Given the description of an element on the screen output the (x, y) to click on. 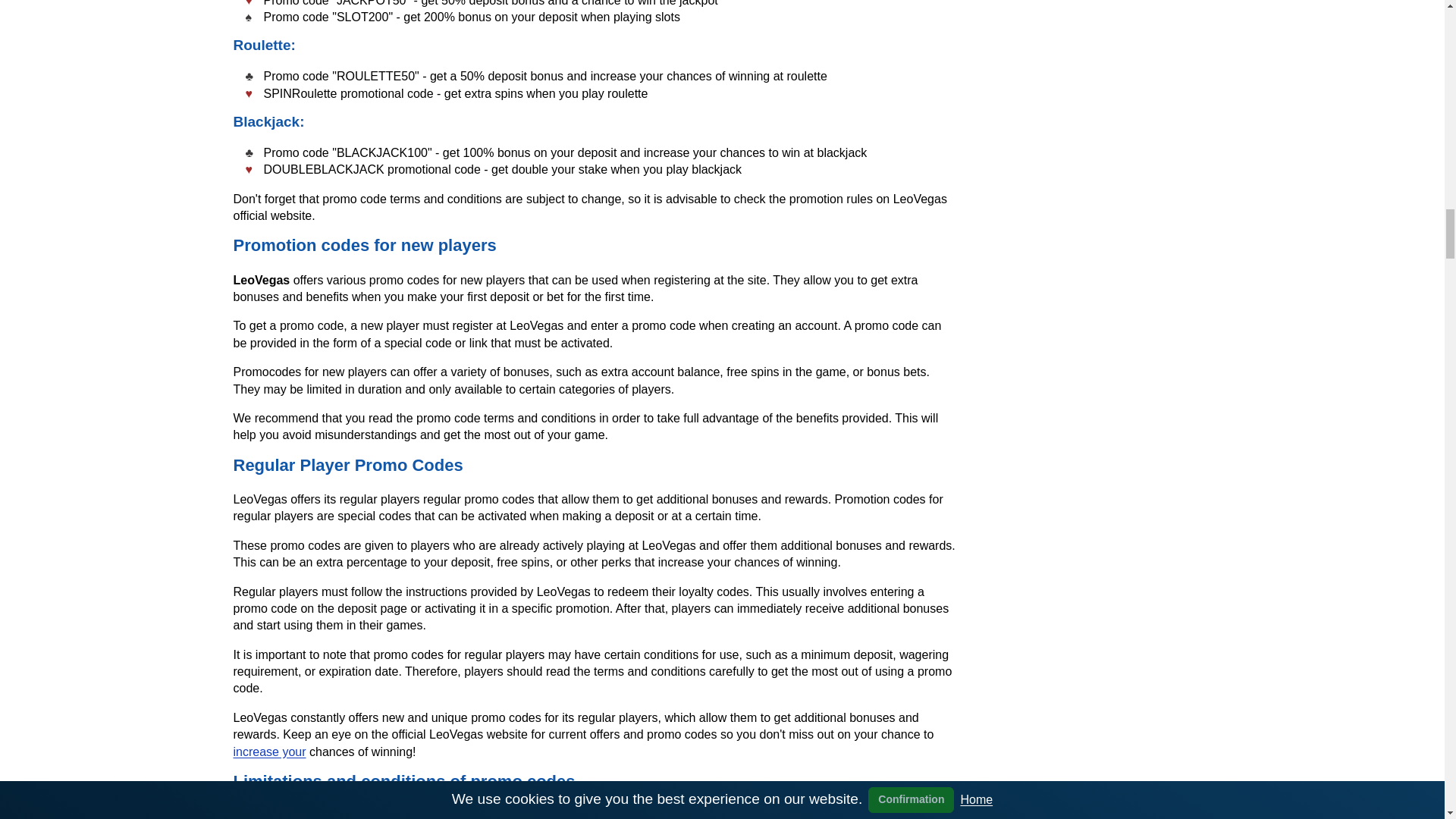
increase your (268, 751)
